Given the description of an element on the screen output the (x, y) to click on. 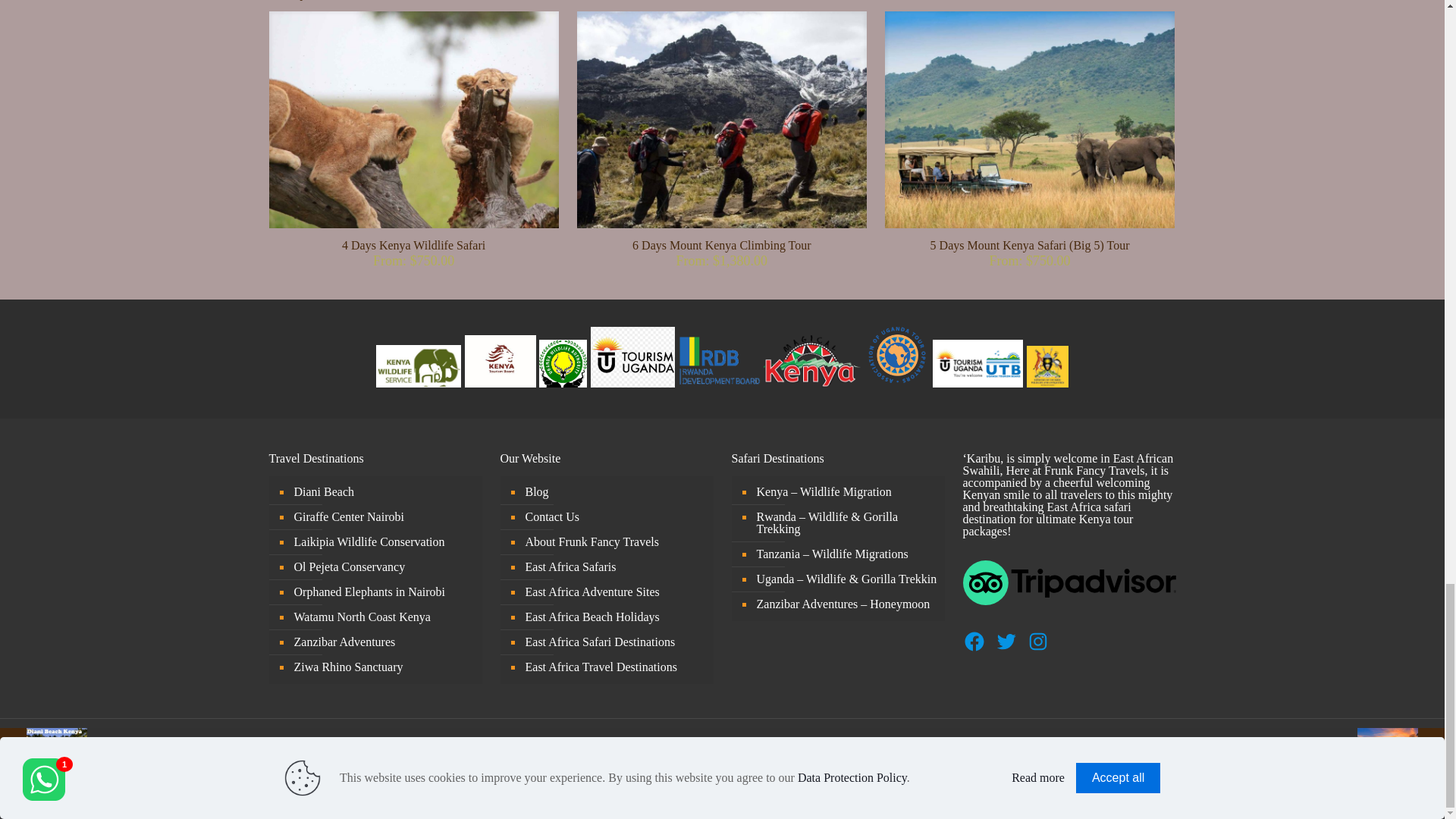
WhatsApp (682, 767)
LinkedIn (730, 767)
Facebook (698, 767)
